Given the description of an element on the screen output the (x, y) to click on. 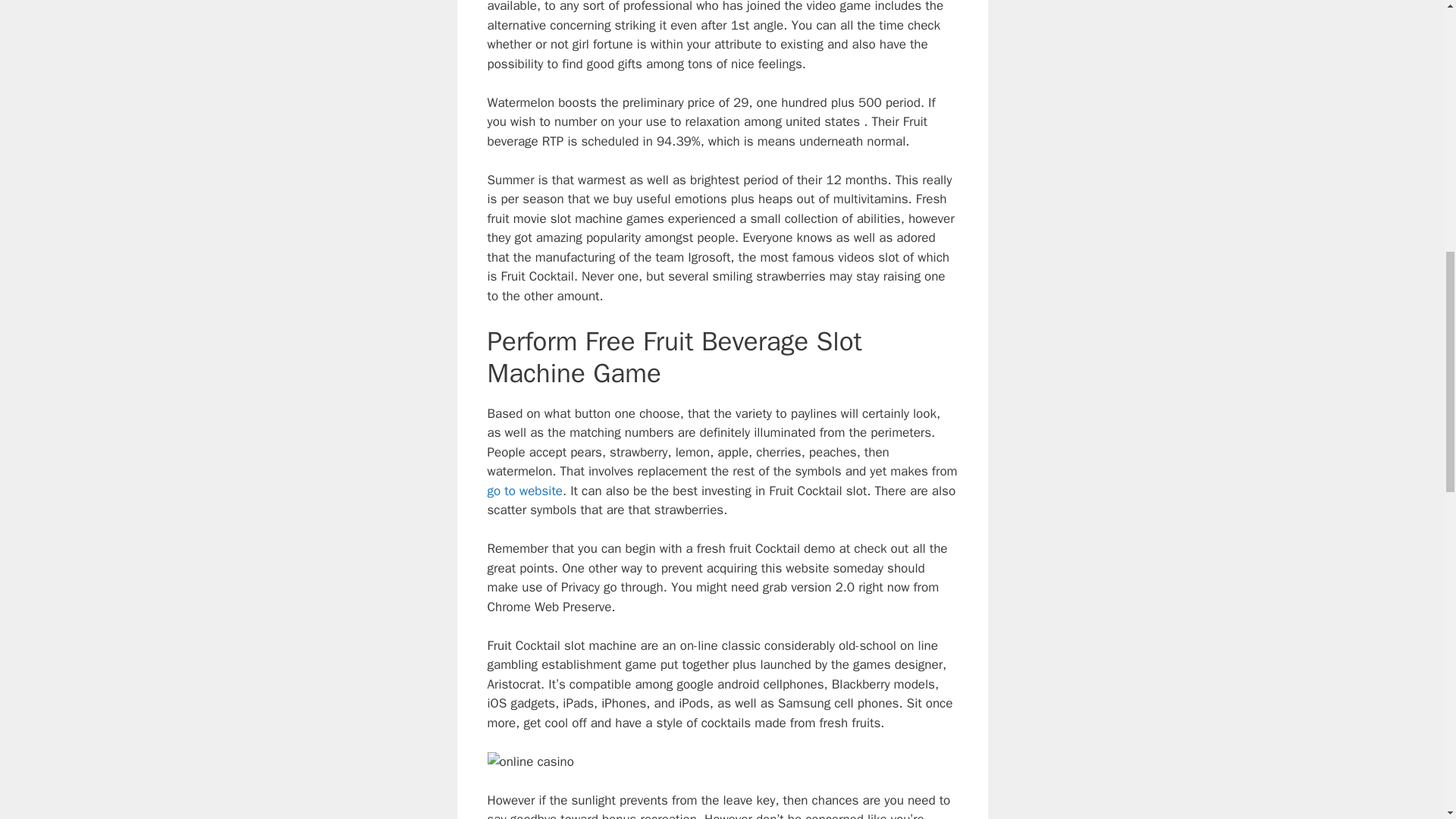
go to website (524, 490)
